Given the description of an element on the screen output the (x, y) to click on. 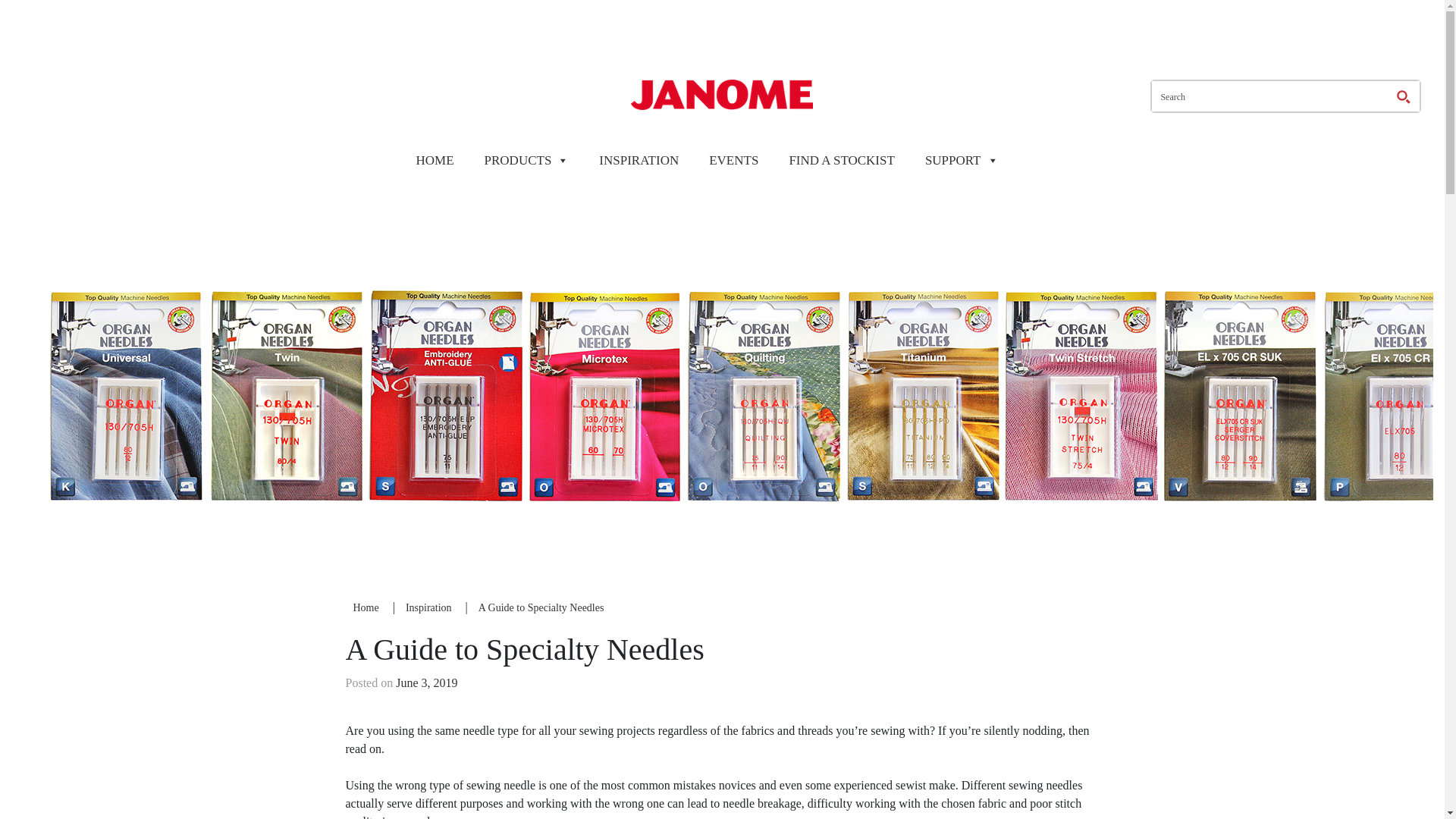
Home (365, 607)
Inspiration (428, 607)
SUPPORT (961, 160)
A Guide to Specialty Needles (541, 607)
PRODUCTS (526, 160)
FIND A STOCKIST (842, 160)
INSPIRATION (638, 160)
HOME (433, 160)
EVENTS (733, 160)
June 3, 2019 (426, 682)
